Given the description of an element on the screen output the (x, y) to click on. 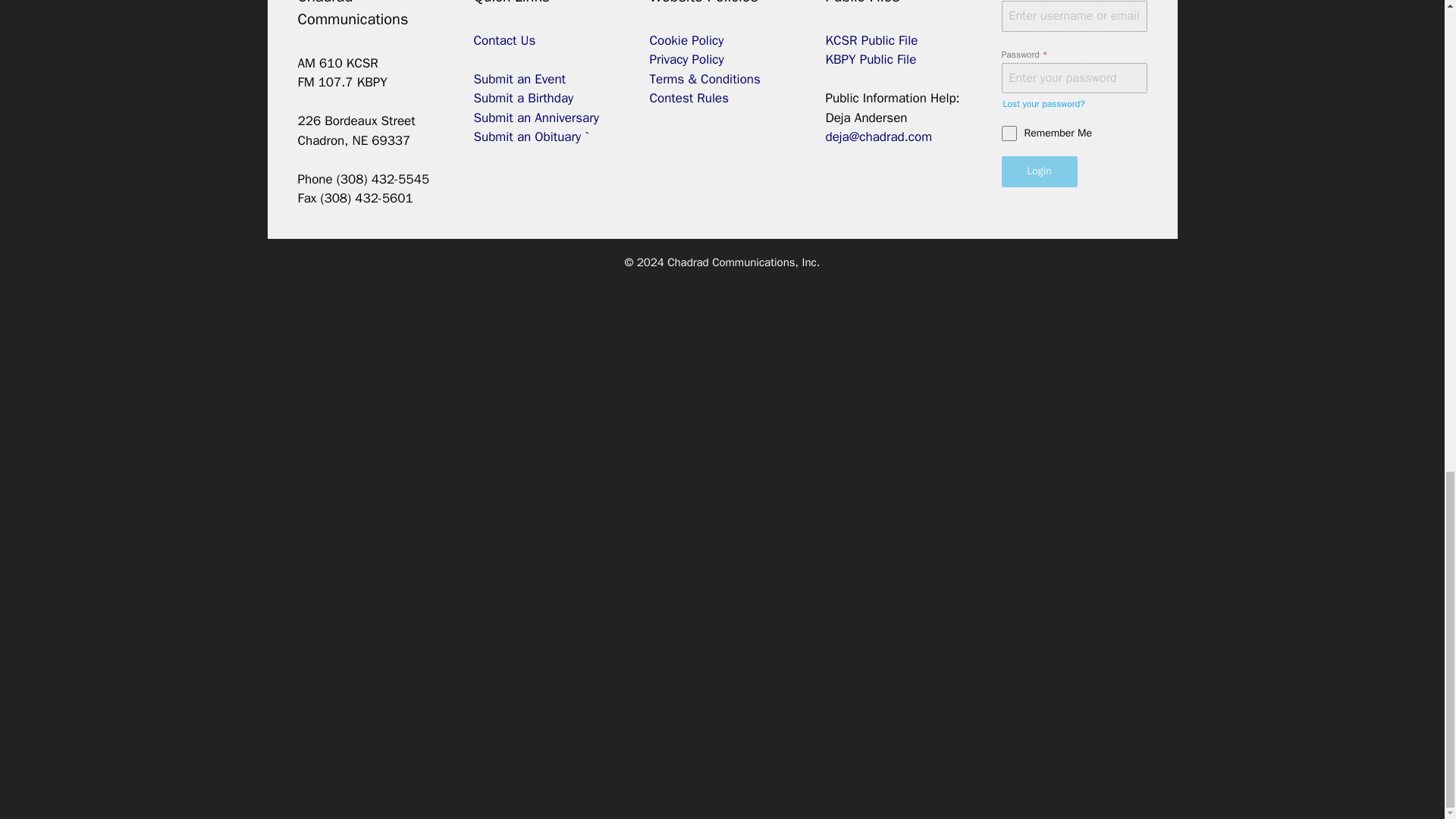
Lost Password (1043, 103)
Remember Me (1074, 133)
